Given the description of an element on the screen output the (x, y) to click on. 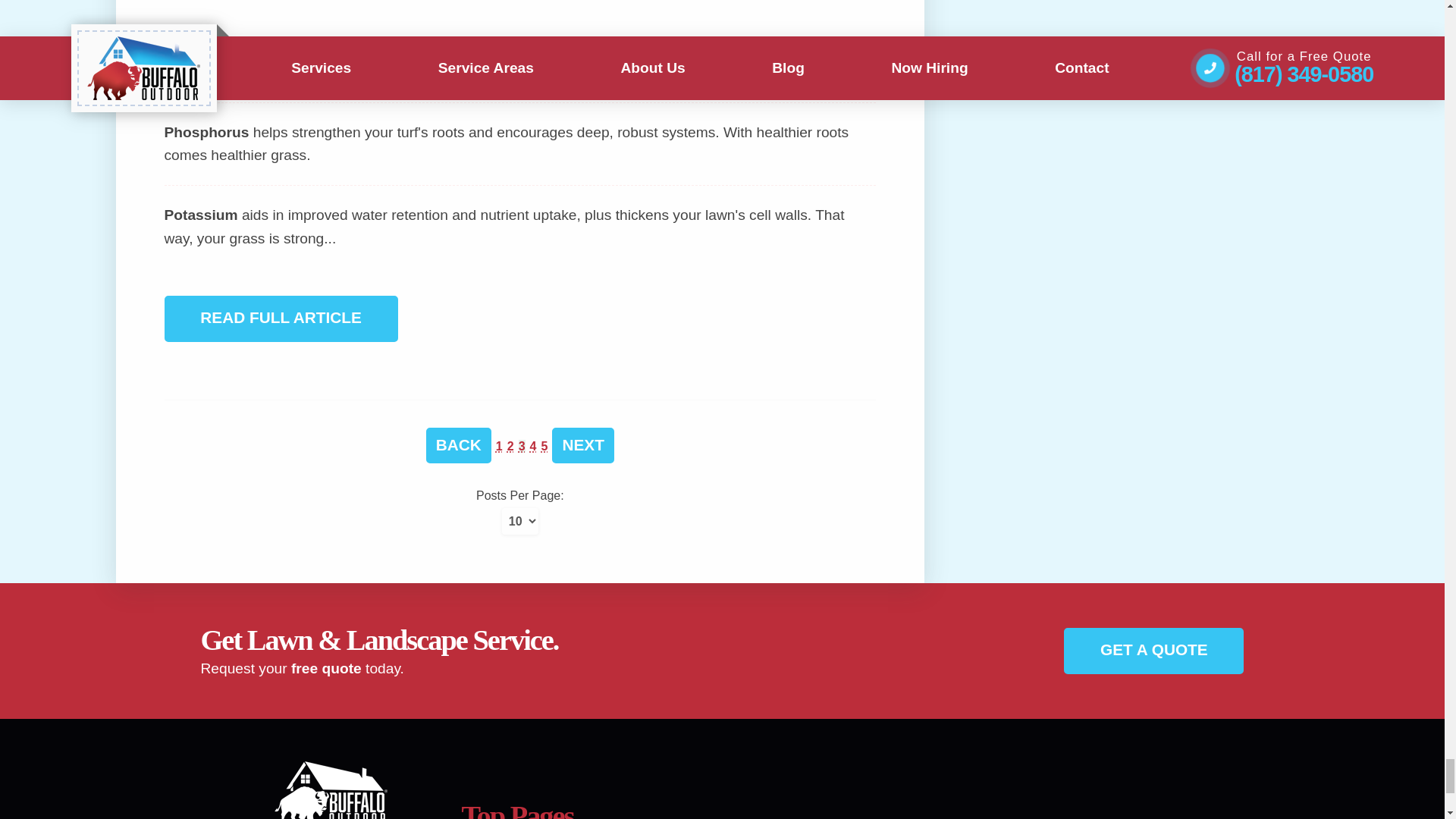
Back (459, 445)
Next (581, 445)
